Given the description of an element on the screen output the (x, y) to click on. 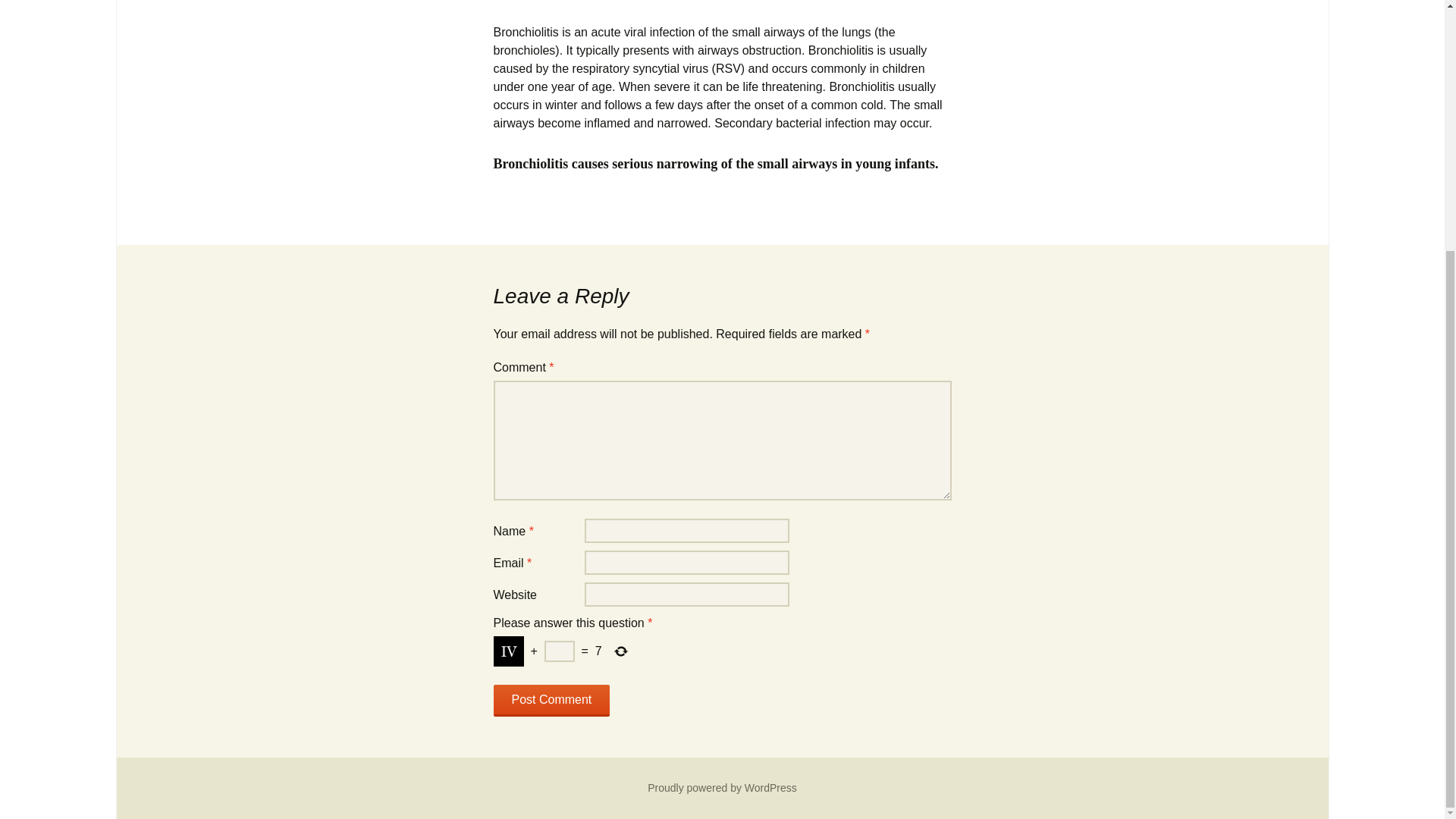
Post Comment (551, 700)
